Given the description of an element on the screen output the (x, y) to click on. 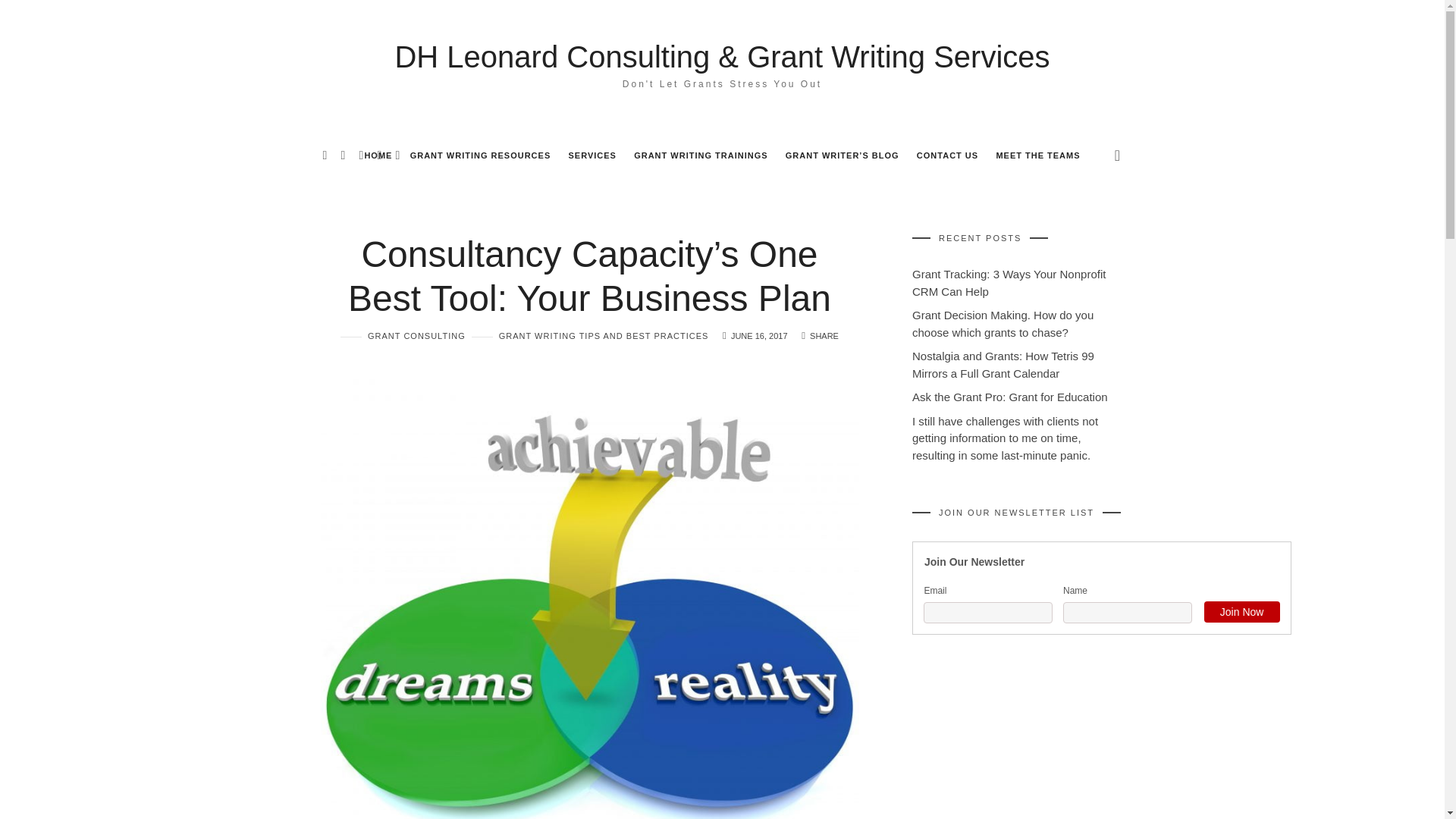
GRANT WRITING TRAININGS (700, 155)
SERVICES (591, 155)
MEET THE TEAMS (1037, 155)
CONTACT US (947, 155)
GRANT CONSULTING (402, 336)
GRANT WRITING RESOURCES (480, 155)
GRANT WRITING TIPS AND BEST PRACTICES (590, 336)
Join Now (1241, 611)
JUNE 16, 2017 (758, 335)
